Given the description of an element on the screen output the (x, y) to click on. 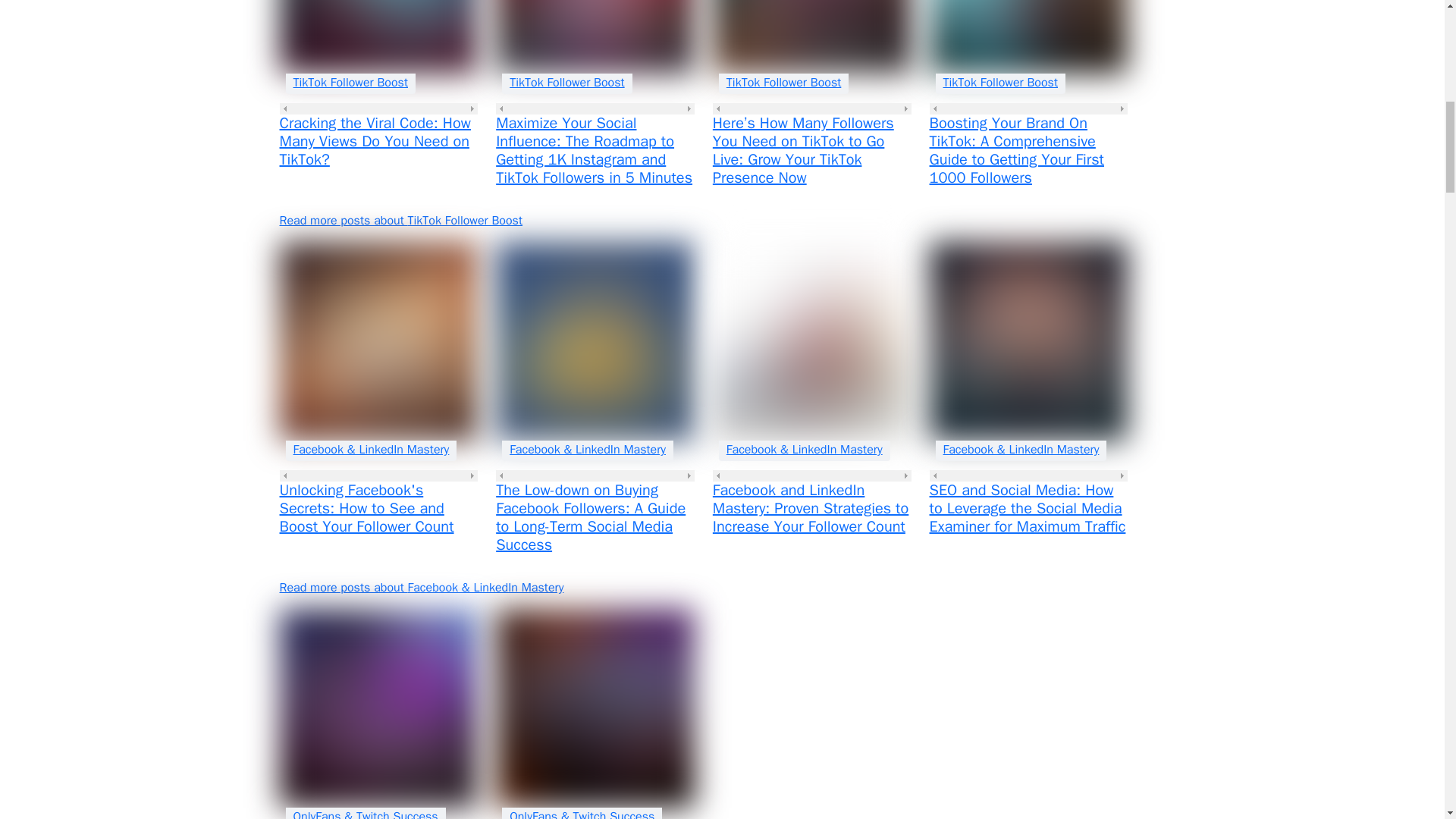
TikTok Follower Boost (349, 82)
TikTok Follower Boost (566, 82)
TikTok Follower Boost (783, 82)
